Given the description of an element on the screen output the (x, y) to click on. 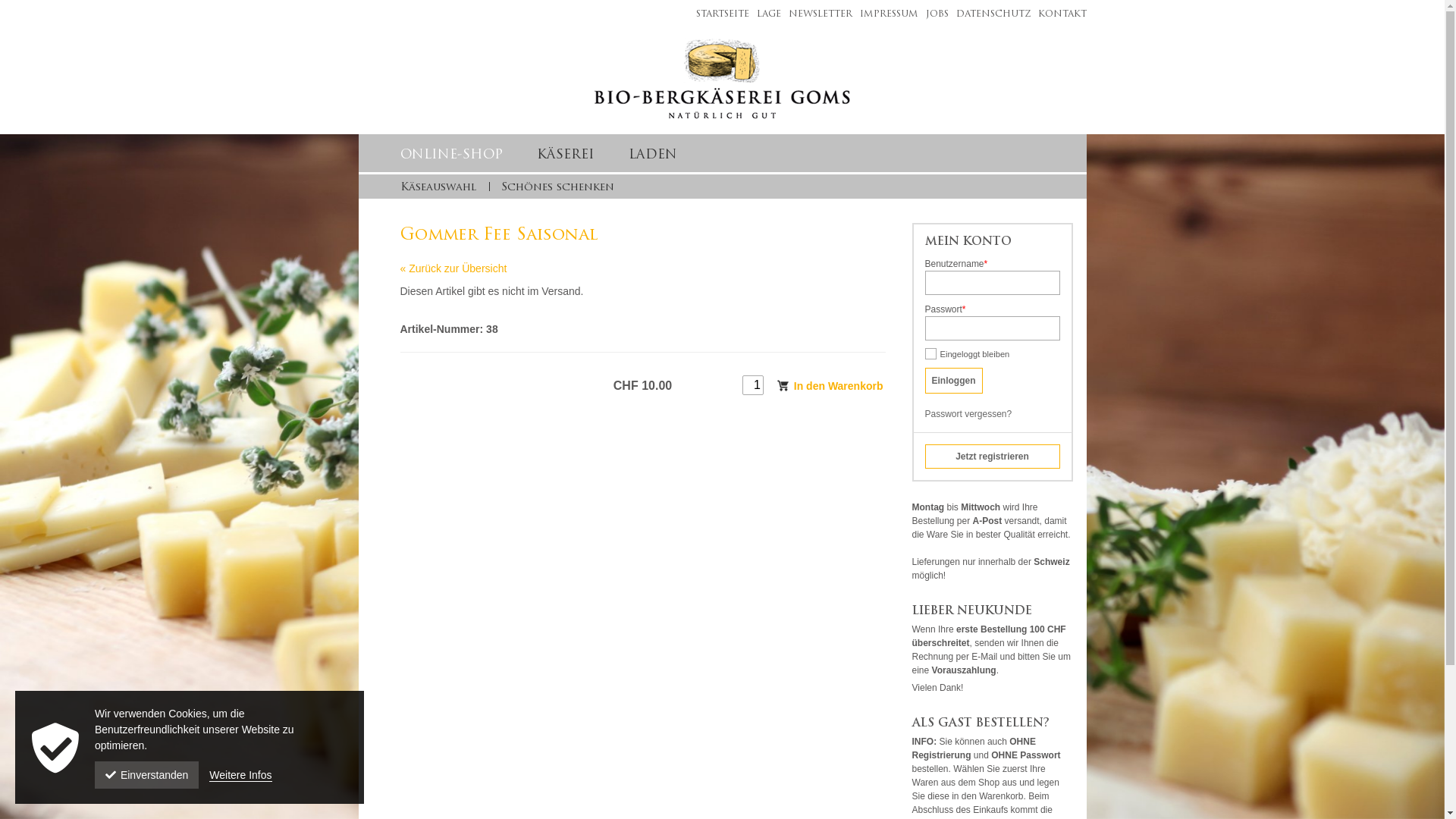
1 Element type: text (752, 385)
JOBS Element type: text (932, 13)
NEWSLETTER Element type: text (816, 13)
LAGE Element type: text (765, 13)
ONLINE-SHOP Element type: text (451, 154)
IMPRESSUM Element type: text (885, 13)
Weitere Infos Element type: text (240, 775)
In den Warenkorb Element type: text (830, 385)
KONTAKT Element type: text (1057, 13)
STARTSEITE Element type: text (718, 13)
Einloggen Element type: text (953, 380)
Passwort vergessen? Element type: text (968, 413)
Einverstanden Element type: text (146, 774)
DATENSCHUTZ Element type: text (988, 13)
LADEN Element type: text (651, 154)
Jetzt registrieren Element type: text (992, 456)
